Given the description of an element on the screen output the (x, y) to click on. 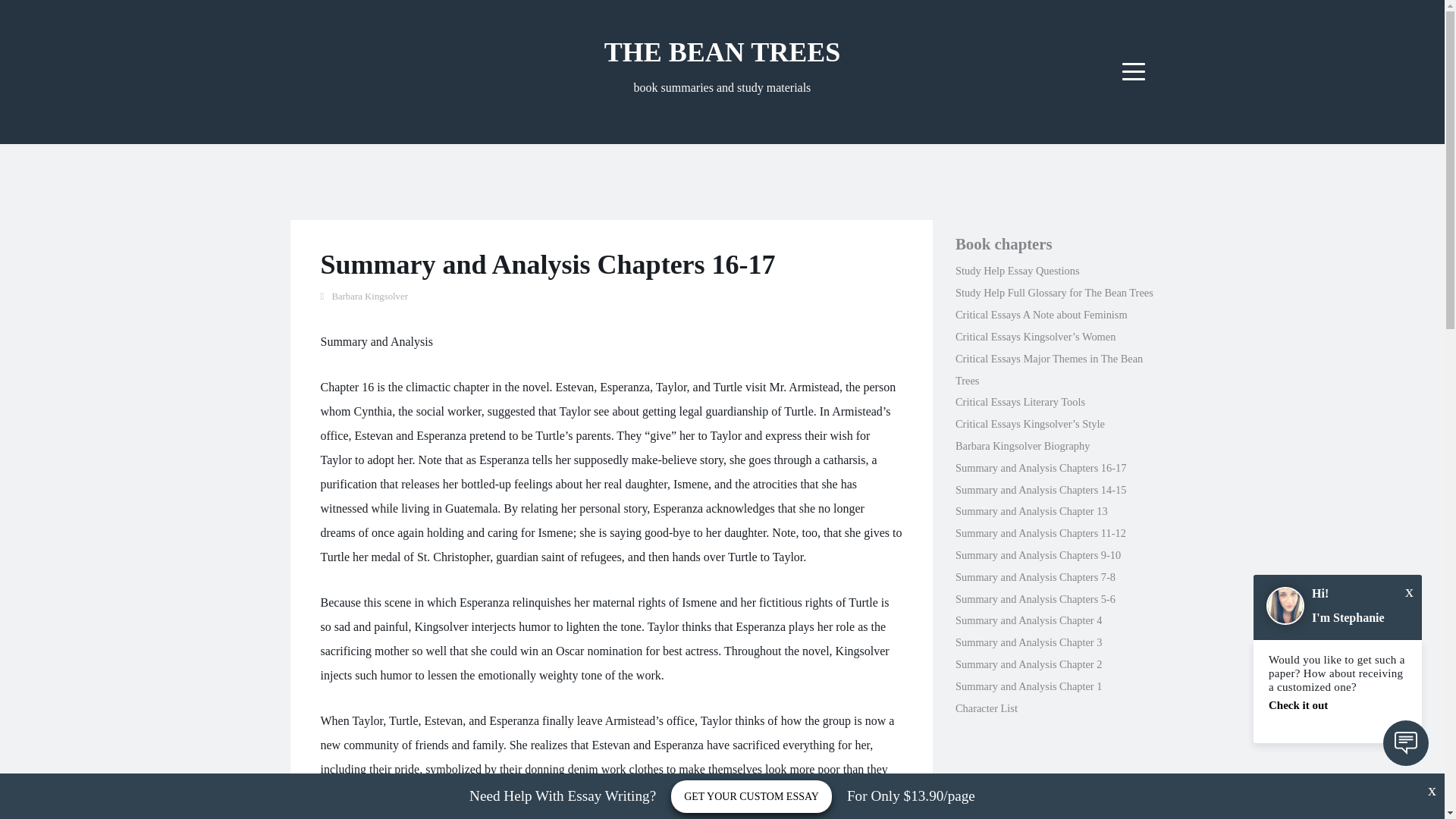
Summary and Analysis Chapter 2 (1028, 664)
GET YOUR CUSTOM ESSAY (751, 795)
Summary and Analysis Chapters 11-12 (1040, 532)
Critical Essays Literary Tools (1019, 401)
Check it out (1337, 704)
Study Help Essay Questions (1017, 270)
Summary and Analysis Chapters 14-15 (1040, 490)
Summary and Analysis Chapters 16-17 (1040, 467)
Barbara Kingsolver (369, 296)
THE BEAN TREES (722, 51)
Critical Essays A Note about Feminism (1040, 314)
Summary and Analysis Chapter 13 (1031, 510)
Menu (1133, 71)
Character List (986, 707)
Barbara Kingsolver Biography (1022, 445)
